Given the description of an element on the screen output the (x, y) to click on. 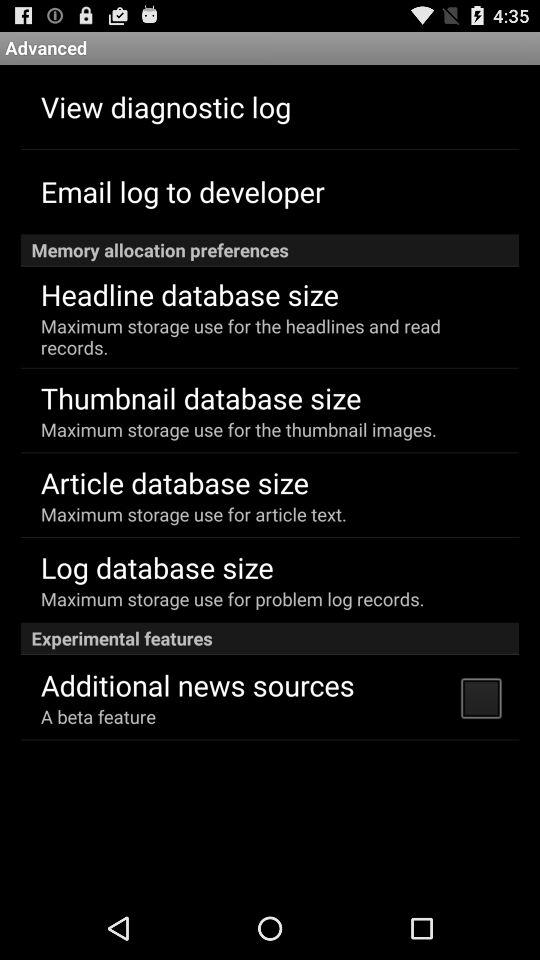
launch item above the memory allocation preferences (182, 190)
